Given the description of an element on the screen output the (x, y) to click on. 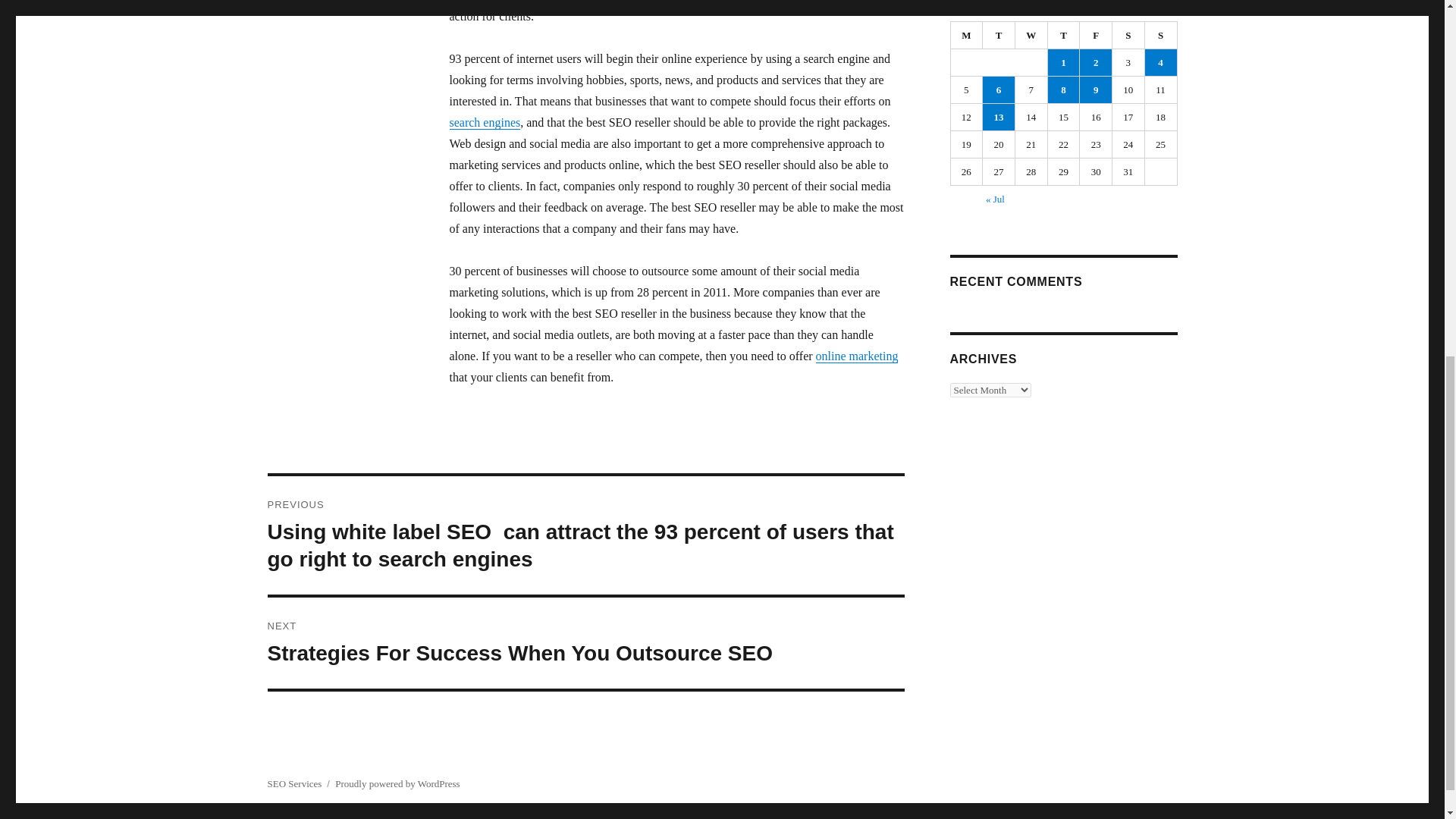
13 (998, 117)
Sunday (1160, 35)
1 (1064, 62)
Tuesday (998, 35)
Search engines (856, 355)
SEO Services (293, 783)
Wednesday (1031, 35)
Monday (967, 35)
